Given the description of an element on the screen output the (x, y) to click on. 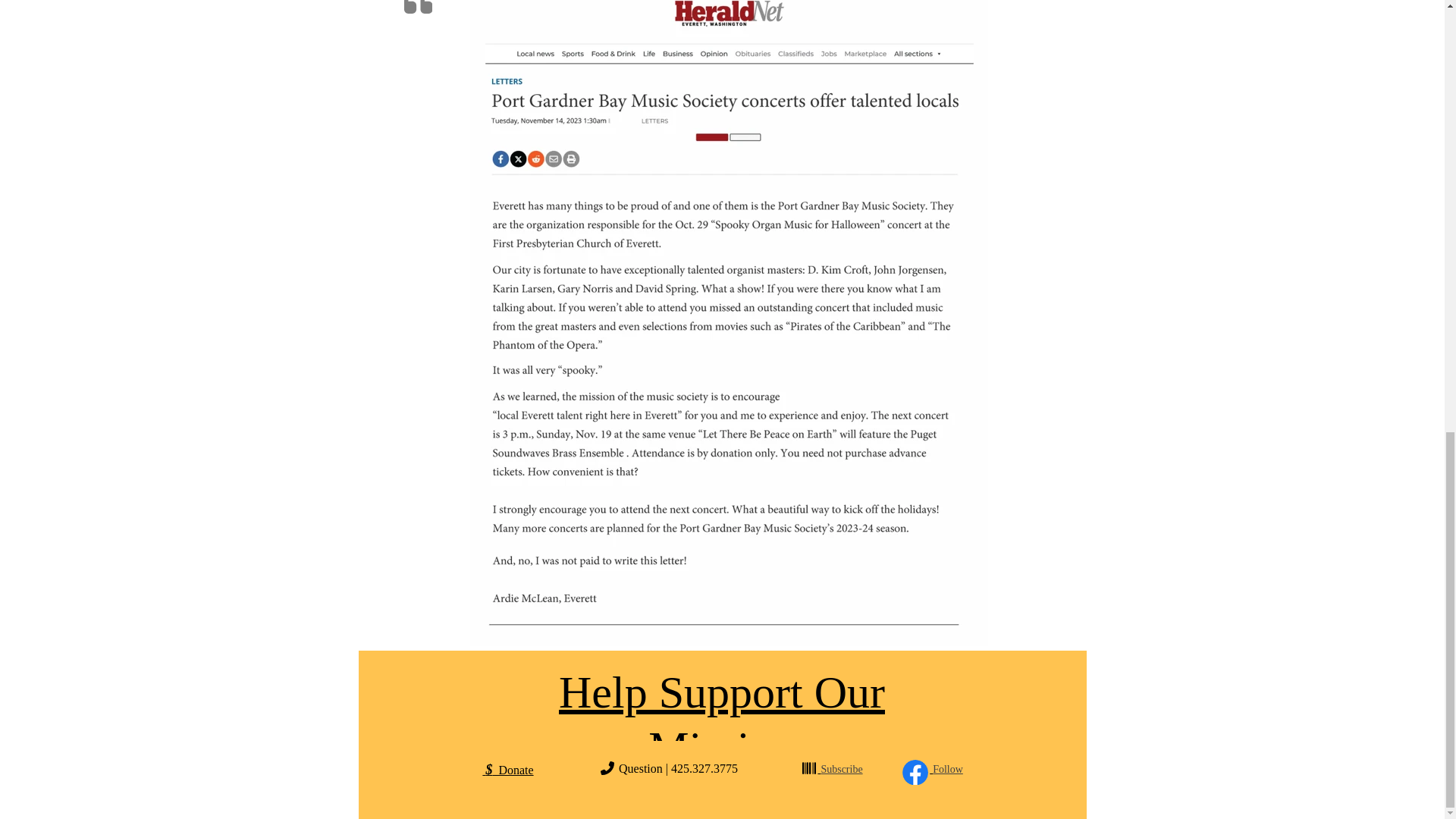
Help Support Our Mission (722, 720)
Subscribe (841, 768)
Barcode (809, 767)
Barcode (808, 767)
  Donate (512, 769)
Follow (947, 768)
Quote Left (417, 9)
Phone Flip (606, 767)
